Given the description of an element on the screen output the (x, y) to click on. 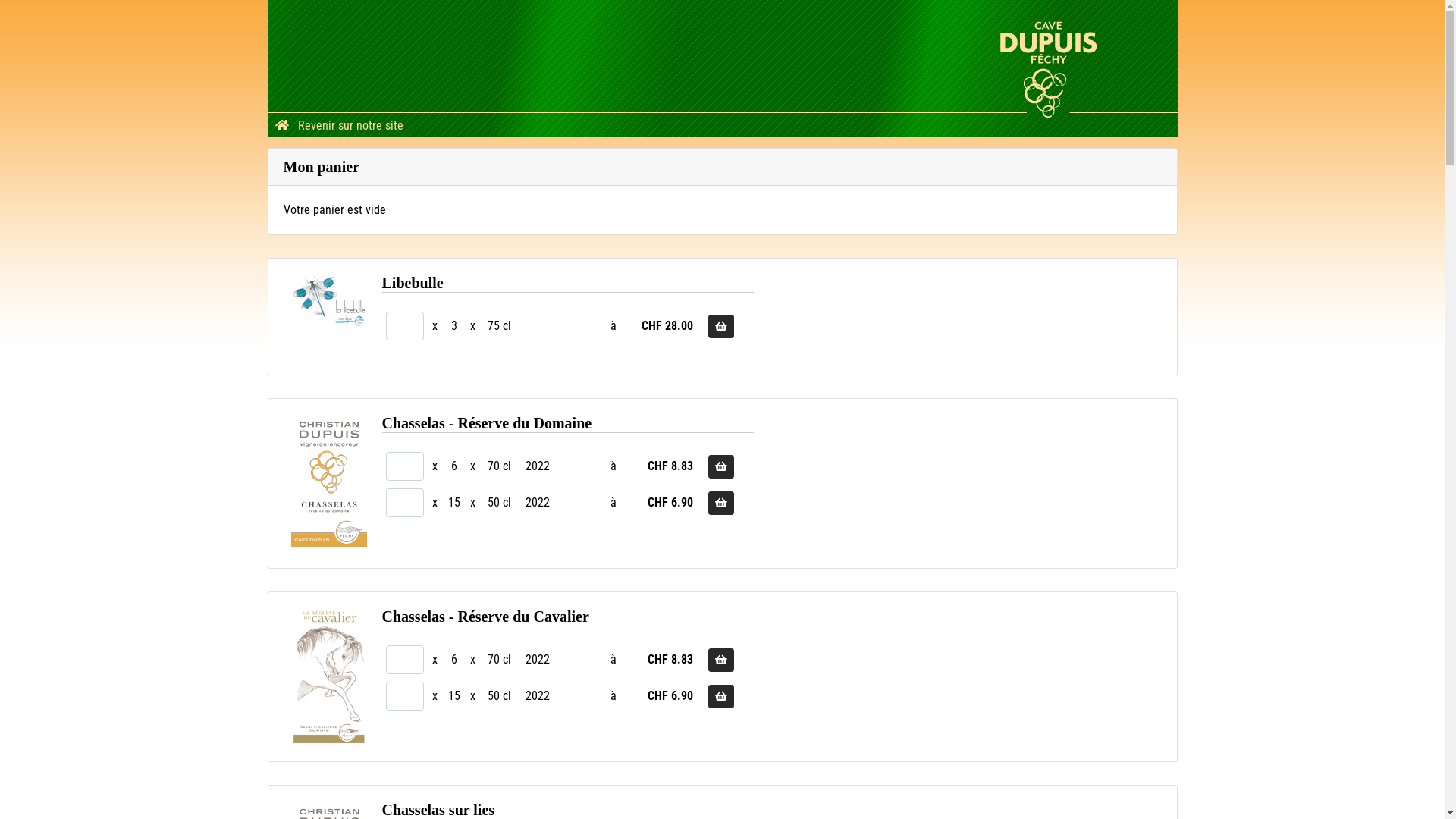
Ajouter au panier Element type: hover (721, 325)
Libebulle Element type: hover (329, 300)
Ajouter au panier Element type: hover (721, 695)
Ajouter au panier Element type: hover (721, 466)
Ajouter au panier Element type: hover (721, 502)
   Revenir sur notre site Element type: text (338, 125)
Ajouter au panier Element type: hover (721, 659)
